Given the description of an element on the screen output the (x, y) to click on. 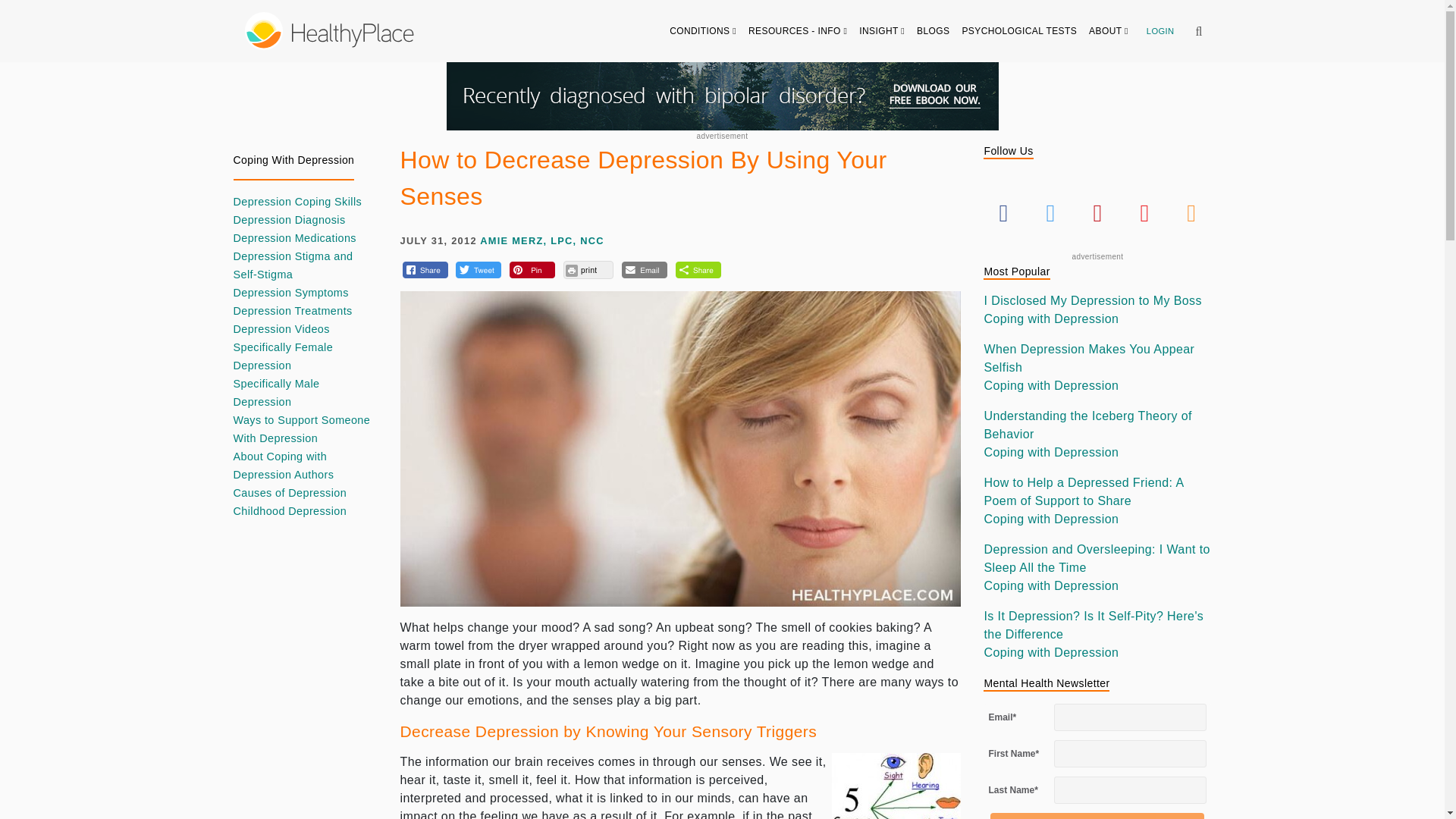
Submit (1097, 816)
RESOURCES - INFO (797, 31)
Get our free bipolar eBook. Click to download. (721, 96)
CONDITIONS (702, 31)
How to Decrease Depression By Maximizing Use of Your Senses (895, 785)
INSIGHT (882, 31)
